Given the description of an element on the screen output the (x, y) to click on. 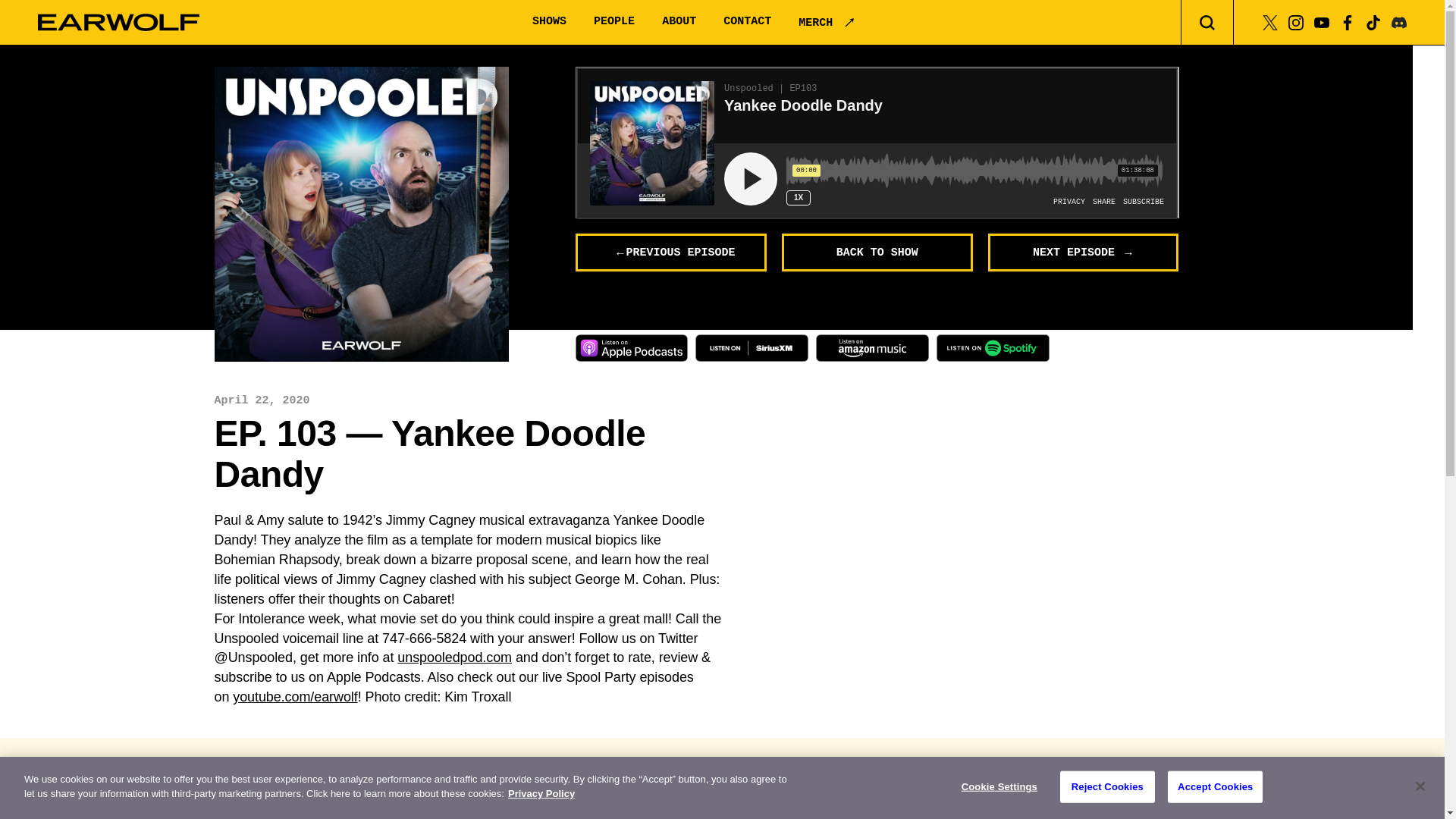
Earwolf (118, 22)
ABOUT (678, 21)
SHOWS (549, 21)
Instagram (1295, 21)
BACK TO SHOW (876, 252)
Facebook (1347, 21)
unspooledpod.com (454, 657)
Toggle Search (1206, 22)
YouTube (1321, 21)
Yankee Doodle Dandy (361, 213)
CONTACT (747, 21)
PEOPLE (614, 21)
Tiktok (1372, 21)
